Given the description of an element on the screen output the (x, y) to click on. 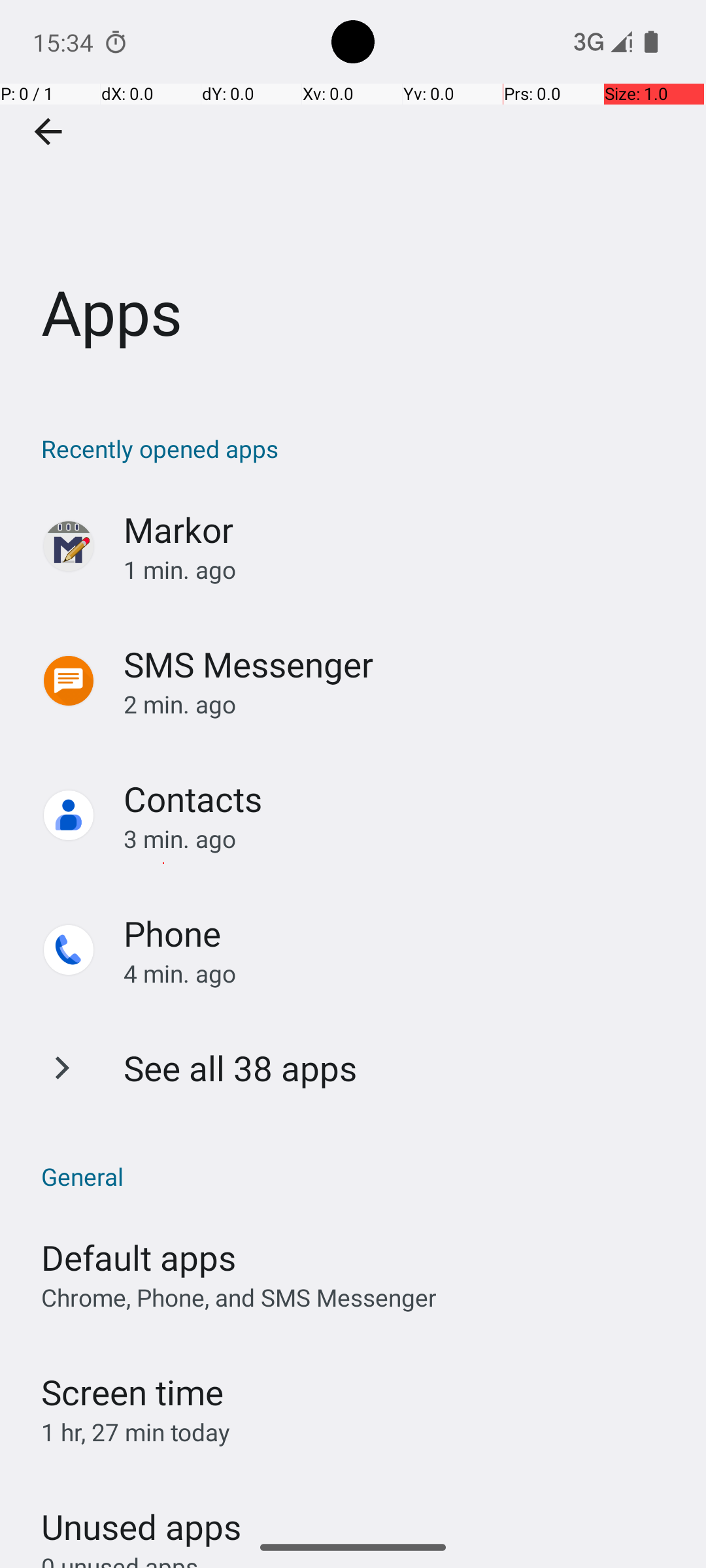
4 min. ago Element type: android.widget.TextView (400, 972)
See all 38 apps Element type: android.widget.TextView (239, 1067)
1 hr, 27 min today Element type: android.widget.TextView (135, 1431)
